Given the description of an element on the screen output the (x, y) to click on. 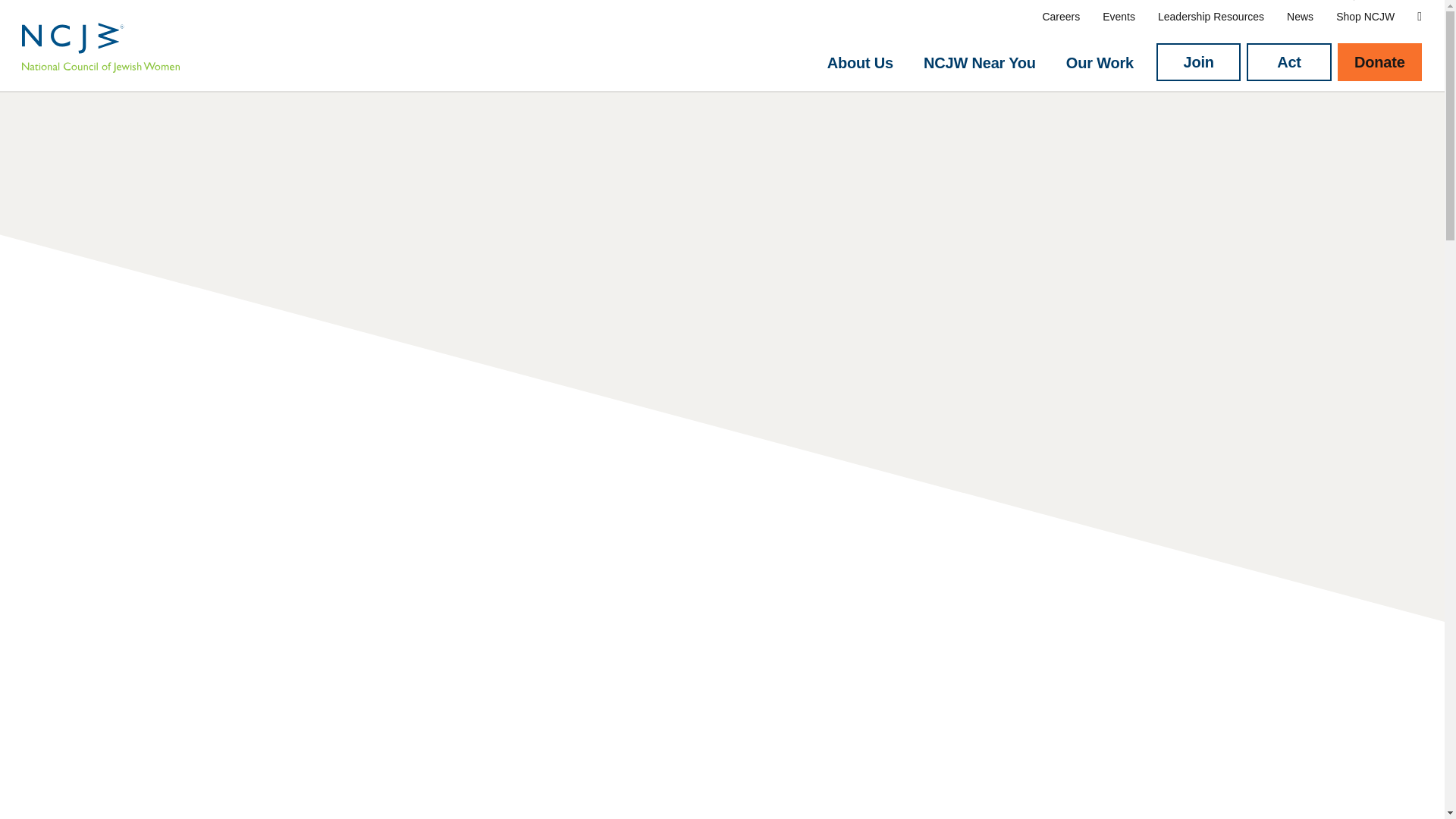
Leadership Resources (1210, 16)
Join (1198, 62)
About Us (860, 62)
Donate (1380, 62)
Our Work (1099, 62)
Shop NCJW (1365, 16)
Events (1118, 16)
NCJW Near You (979, 62)
Act (1288, 62)
Careers (1061, 16)
